Given the description of an element on the screen output the (x, y) to click on. 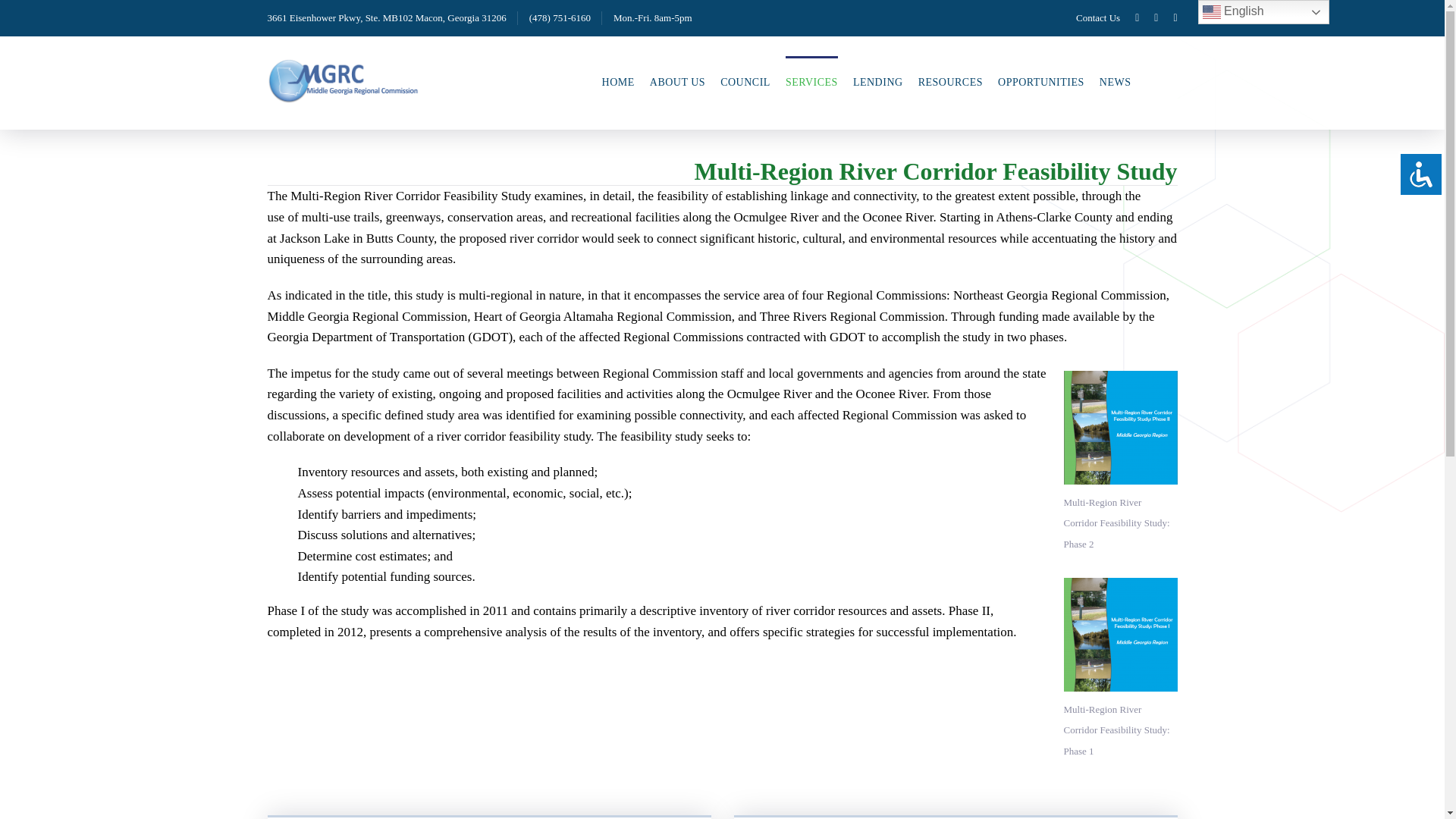
ABOUT US (676, 82)
Search (1407, 79)
SERVICES (812, 82)
COUNCIL (745, 82)
Search (1407, 79)
3661 Eisenhower Pkwy, Ste. MB102 Macon, Georgia 31206 (385, 17)
Mon.-Fri. 8am-5pm (652, 17)
Contact Us (1097, 17)
